Given the description of an element on the screen output the (x, y) to click on. 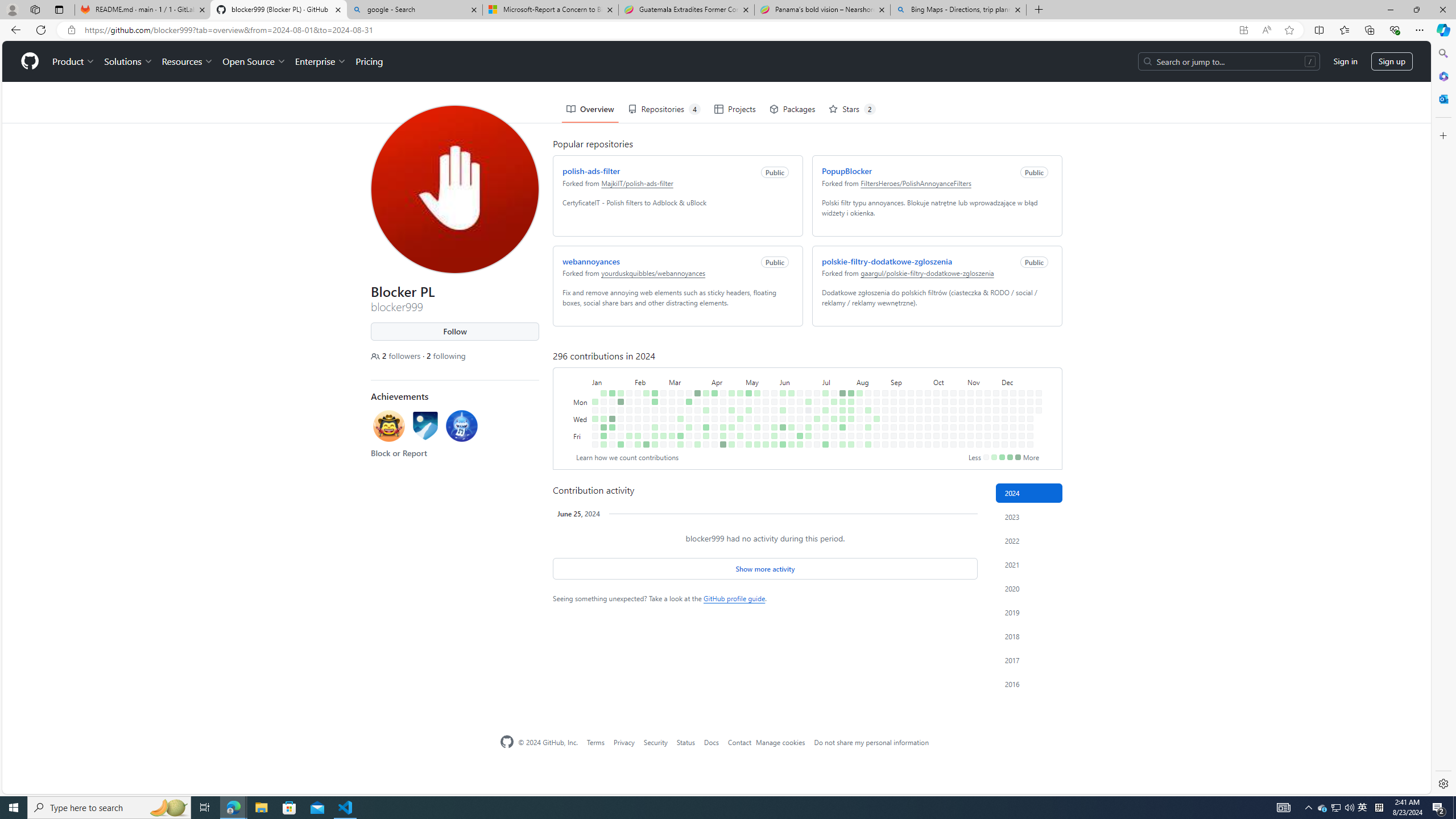
No contributions on September 1st. (890, 351)
No contributions on October 13th. (942, 351)
7 contributions on January 11th. (601, 386)
Terms (595, 741)
1 contribution on February 22nd. (652, 386)
1 contribution on August 3rd. (850, 444)
No contributions on February 28th. (660, 377)
6 contributions on June 21st. (797, 394)
No contributions on September 6th. (890, 394)
No contributions on April 3rd. (703, 377)
No contributions on November 21st. (985, 386)
No contributions on July 4th. (814, 386)
No contributions on December 26th. (1027, 386)
No contributions on February 7th. (635, 377)
